Given the description of an element on the screen output the (x, y) to click on. 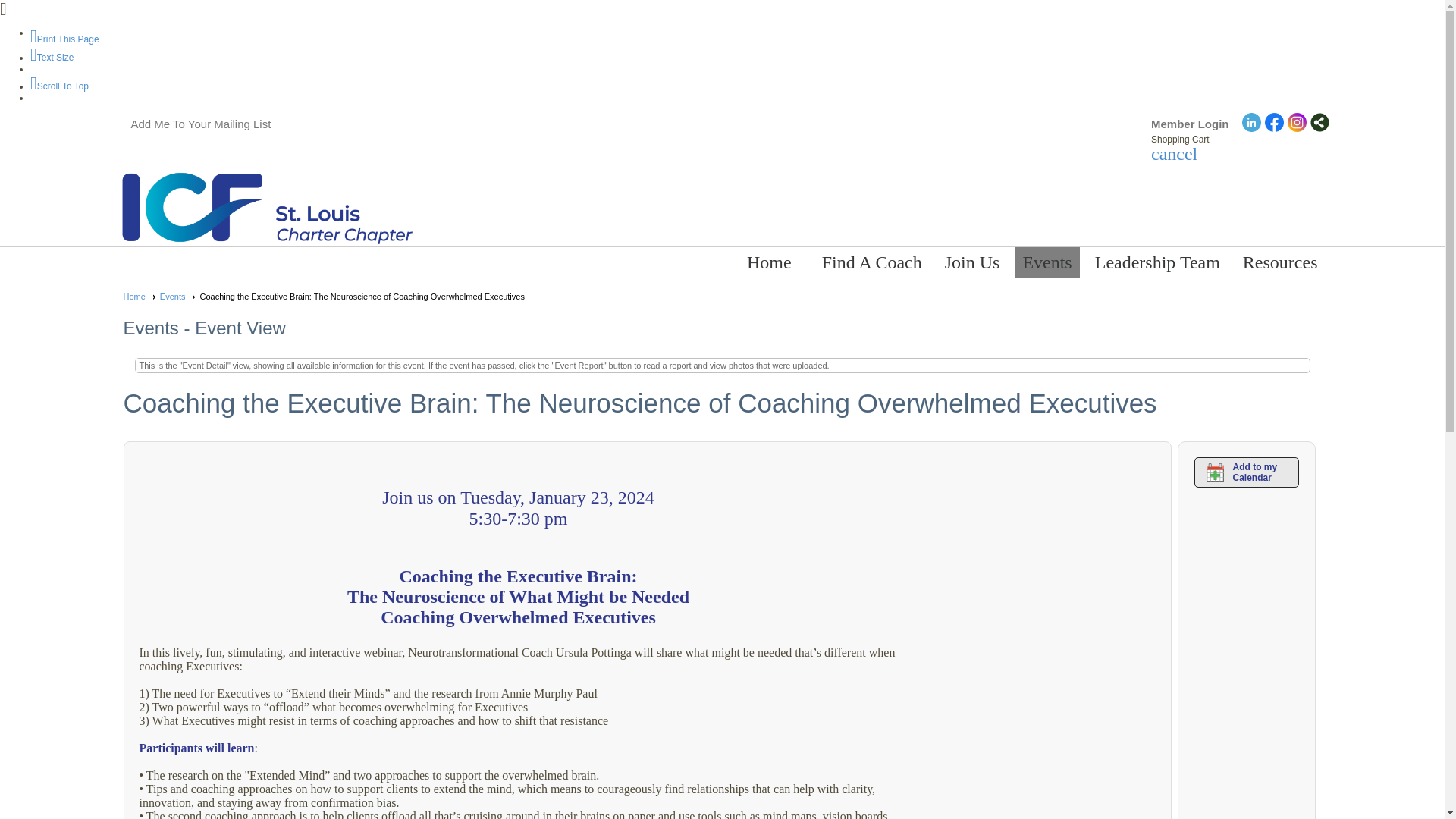
Leadership Team (1157, 262)
Add Me To Your Mailing List (200, 123)
Member Login (1189, 123)
Events (1046, 262)
Visit us on Facebook (1274, 123)
Home (769, 262)
Events (178, 296)
vCalendar (1245, 472)
Click here for more sharing options (1319, 122)
Go To Top (59, 86)
